Given the description of an element on the screen output the (x, y) to click on. 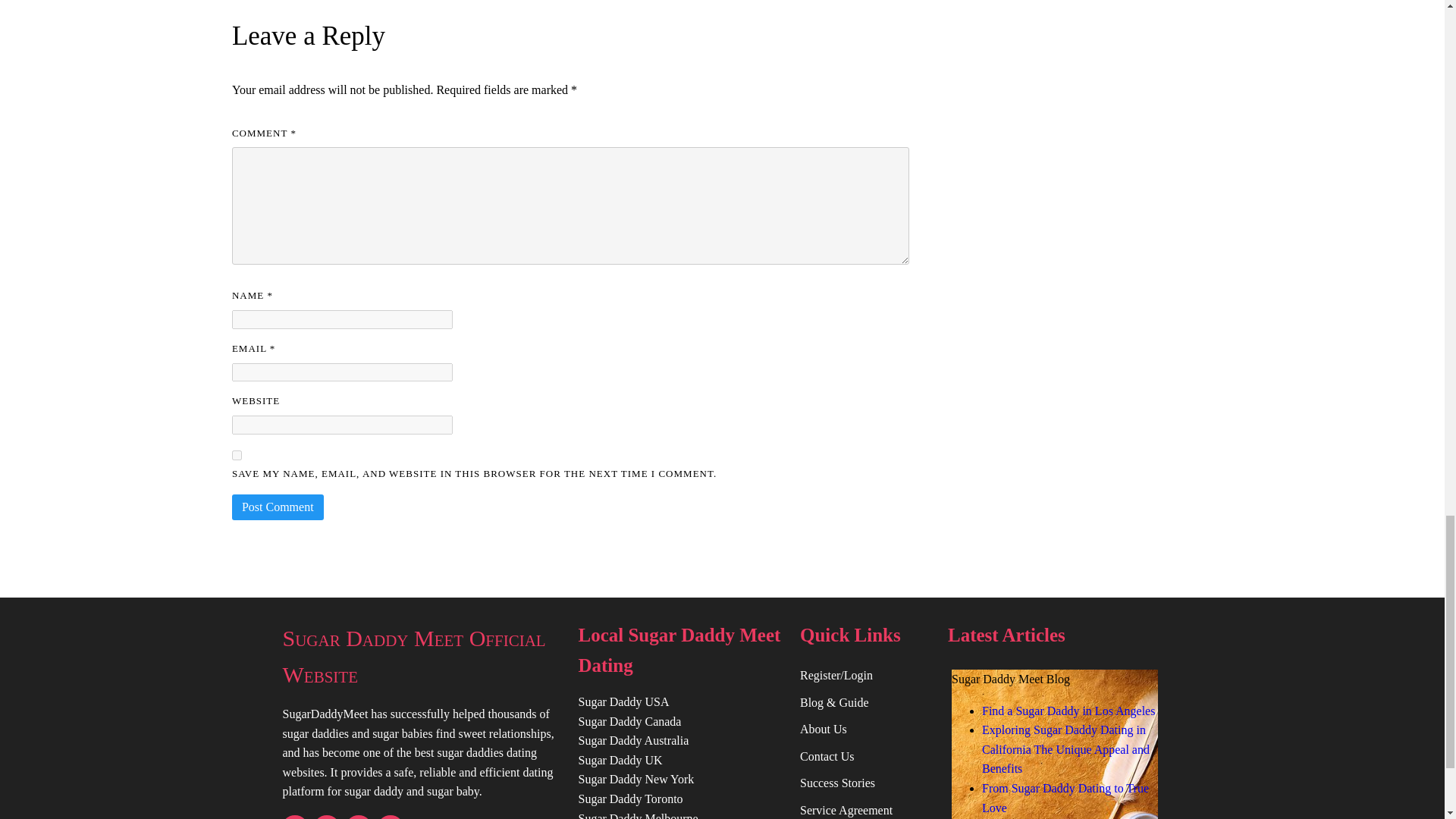
Post Comment (277, 507)
yes (236, 455)
Post Comment (277, 507)
